Given the description of an element on the screen output the (x, y) to click on. 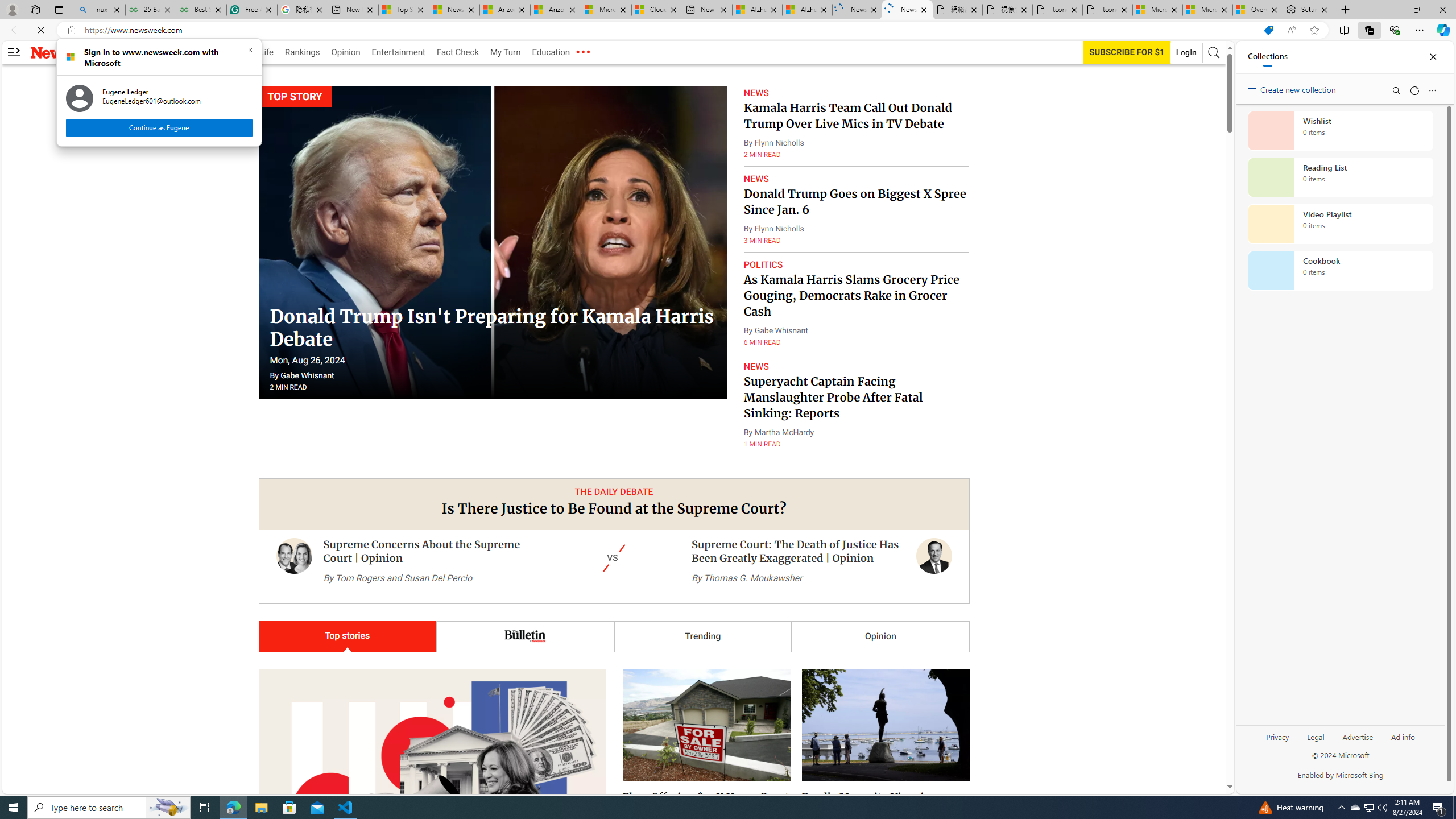
By Jordan King (828, 721)
By Gabe Whisnant (776, 330)
By Martha McHardy (778, 432)
Deadly Mosquito Virus in Massachusetts: What We Know (881, 691)
Supreme Concerns About the Supreme Court | Opinion (421, 551)
Cloud Computing Services | Microsoft Azure (656, 9)
